Given the description of an element on the screen output the (x, y) to click on. 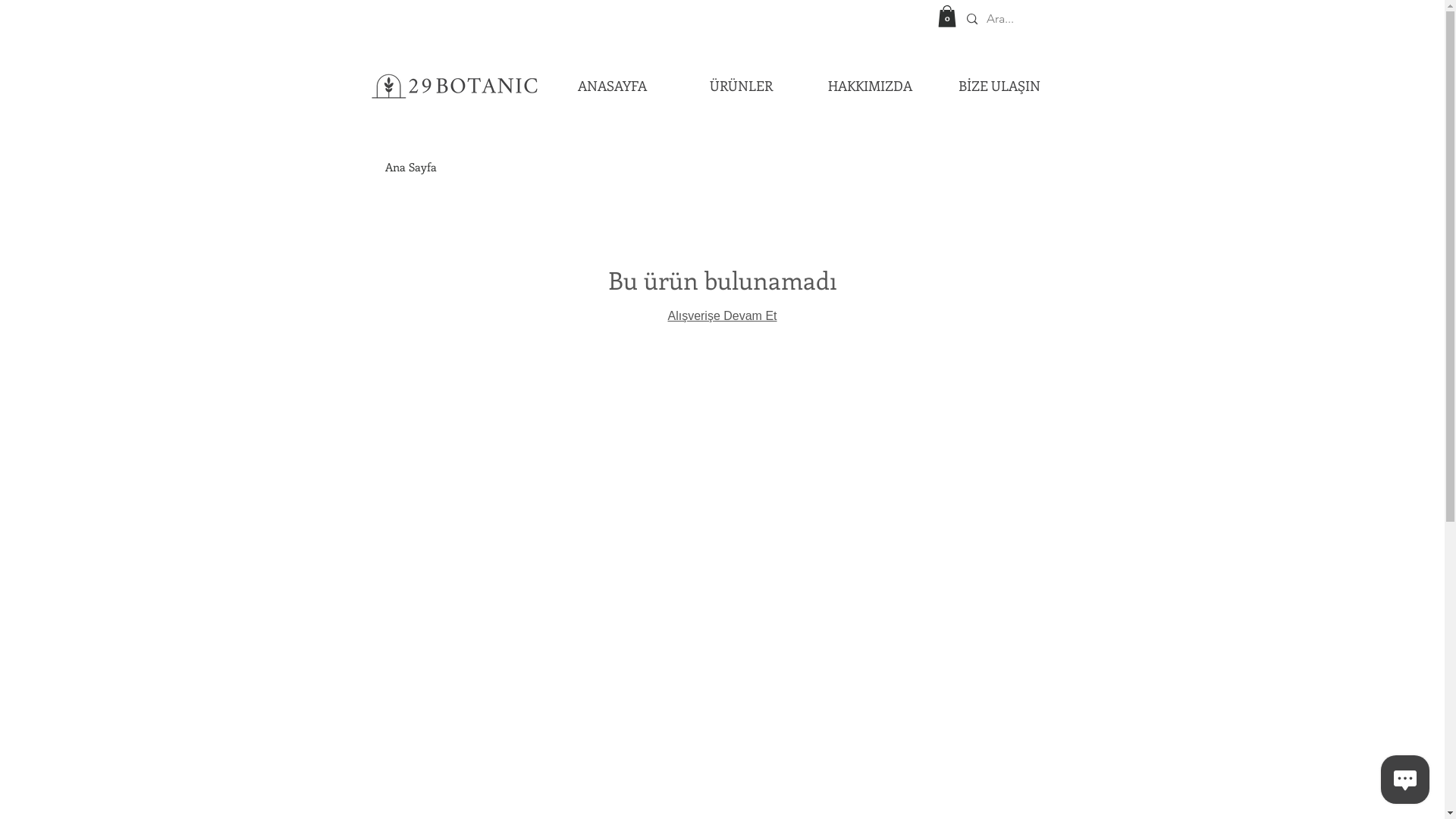
0 Element type: text (946, 16)
Ana Sayfa Element type: text (410, 166)
ANASAYFA Element type: text (612, 85)
HAKKIMIZDA Element type: text (869, 85)
